Given the description of an element on the screen output the (x, y) to click on. 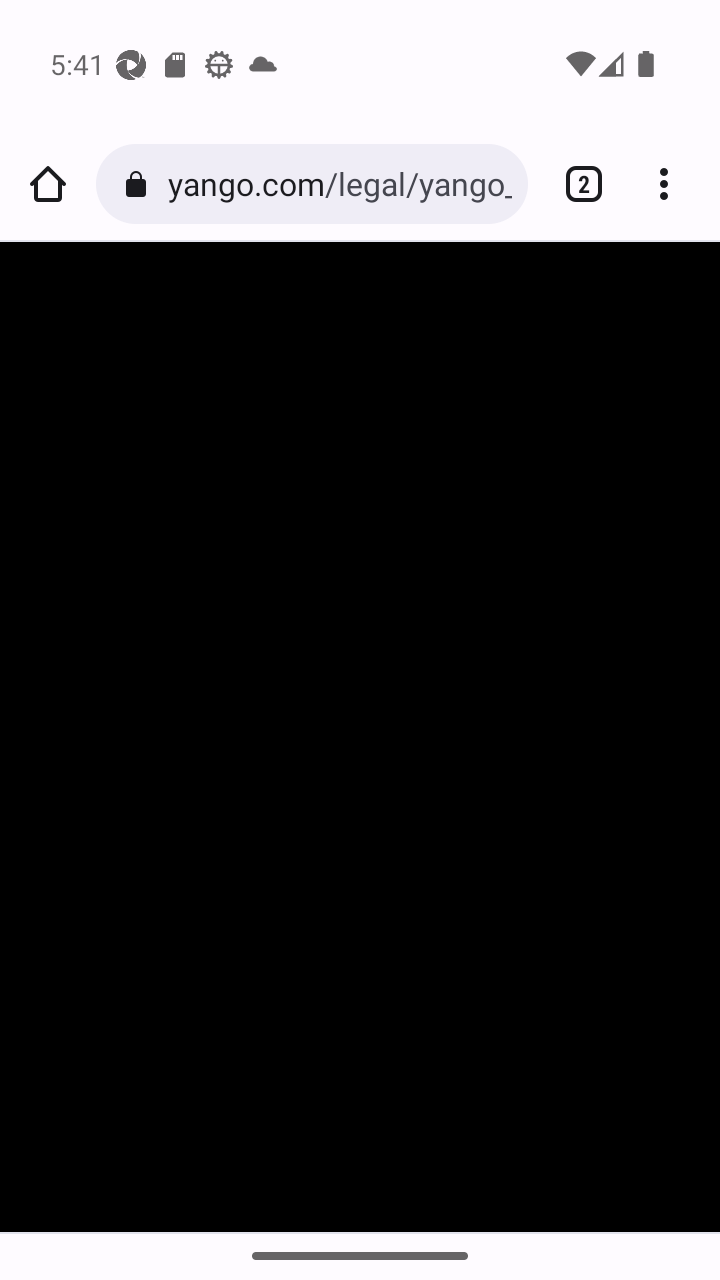
Home (47, 184)
Connection is secure (139, 184)
Switch or close tabs (575, 184)
More options (672, 184)
